Given the description of an element on the screen output the (x, y) to click on. 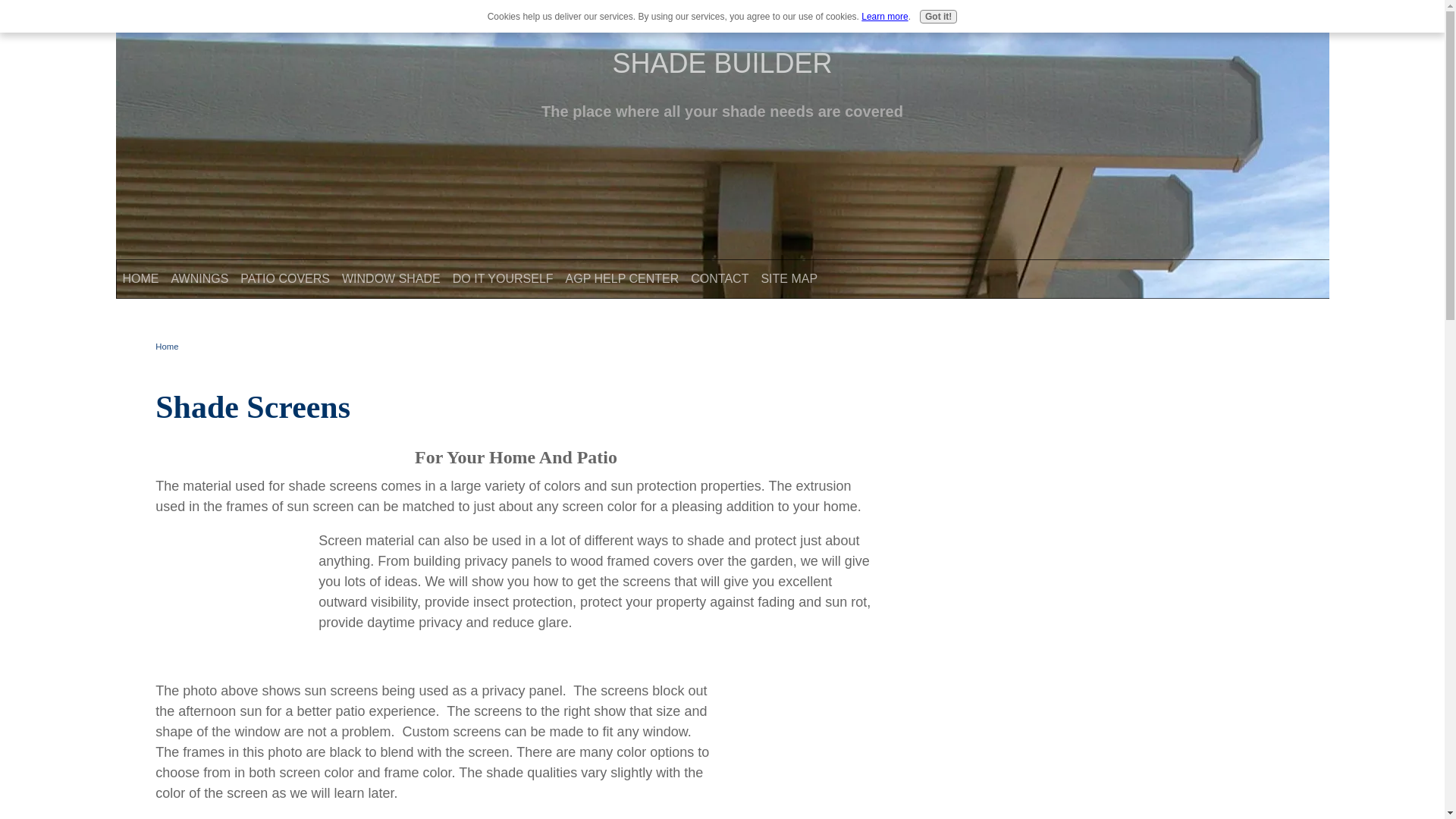
AGP HELP CENTER (622, 278)
Home (166, 346)
Got it! (938, 16)
PATIO COVERS (285, 278)
SITE MAP (789, 278)
SHADE BUILDER (721, 62)
HOME (140, 278)
CONTACT (719, 278)
WINDOW SHADE (391, 278)
Learn more (884, 16)
DO IT YOURSELF (502, 278)
Shade Screen Privacy Panel (231, 587)
Shade Screens on Mobile Home (800, 737)
AWNINGS (199, 278)
